Given the description of an element on the screen output the (x, y) to click on. 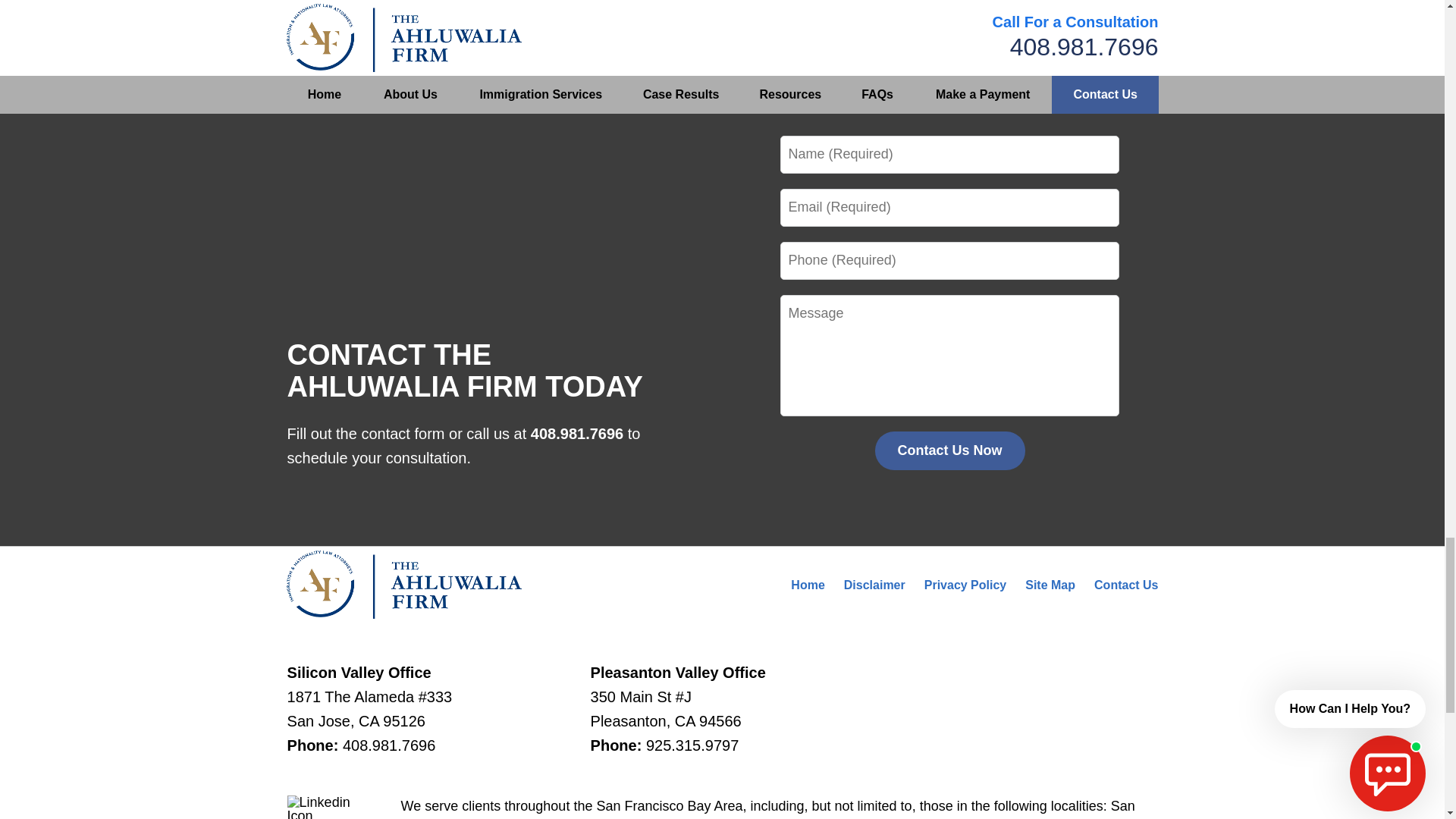
Linkedin (323, 807)
